Given the description of an element on the screen output the (x, y) to click on. 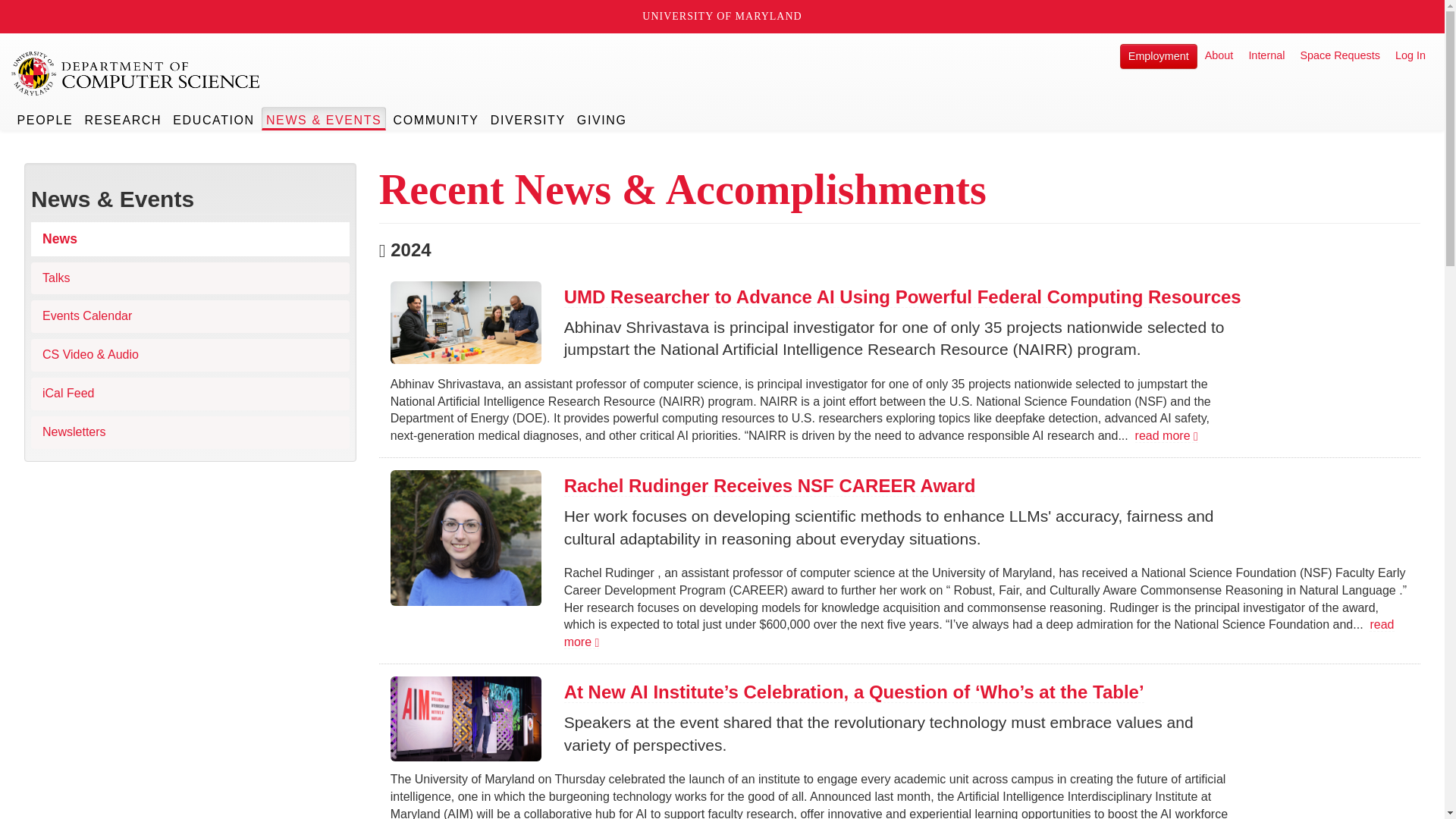
Find Faculty, Staff and Students (45, 118)
EDUCATION (213, 118)
UNIVERSITY OF MARYLAND (722, 16)
UMD Department of Computer Science (136, 73)
RESEARCH (122, 118)
Home (136, 73)
COMMUNITY (435, 118)
PEOPLE (45, 118)
Community (435, 118)
